Given the description of an element on the screen output the (x, y) to click on. 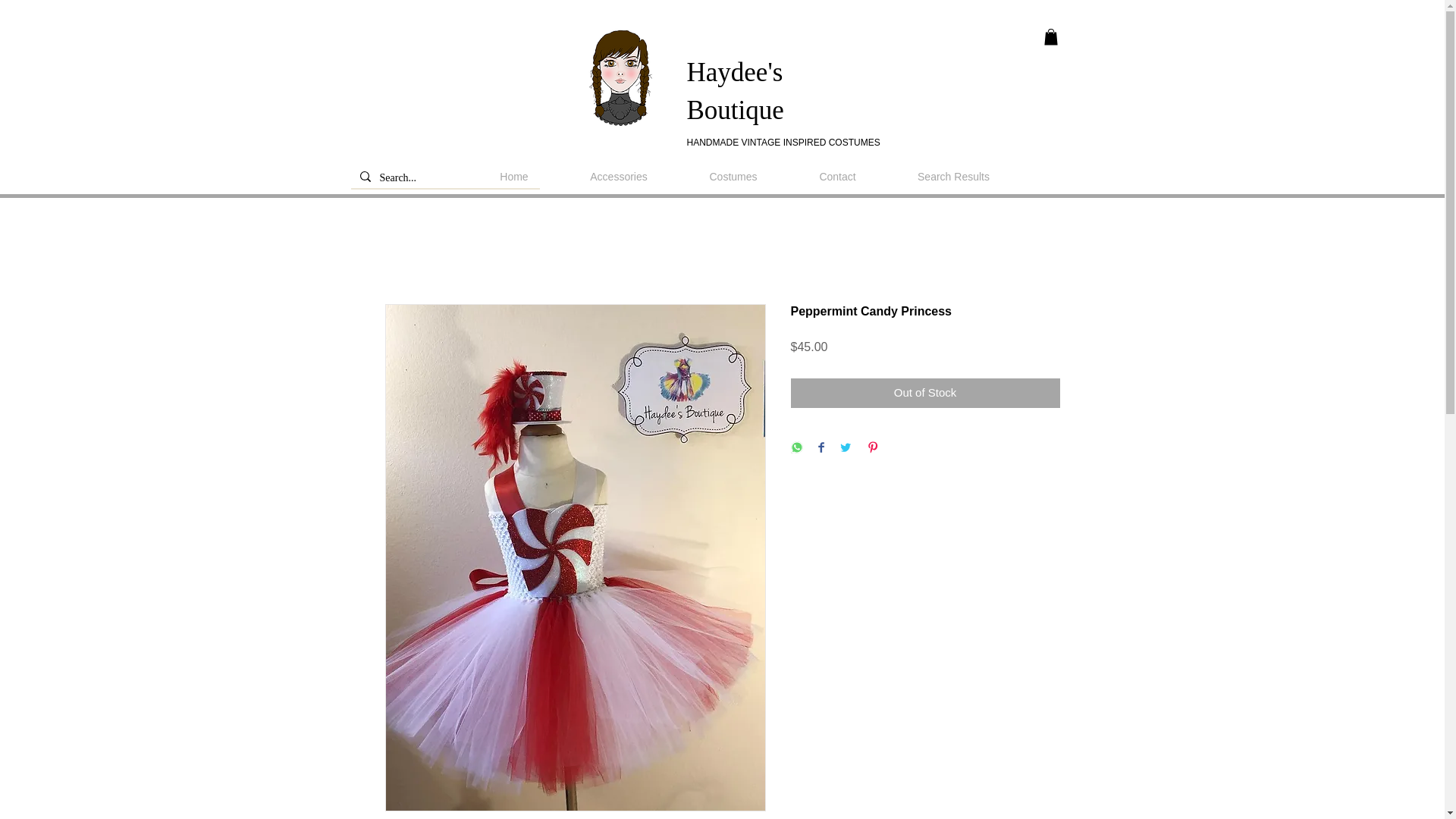
Search Results (953, 176)
Accessories (618, 176)
Costumes (732, 176)
Logo Face.png (621, 77)
Out of Stock (924, 392)
Contact (837, 176)
Home (513, 176)
